Given the description of an element on the screen output the (x, y) to click on. 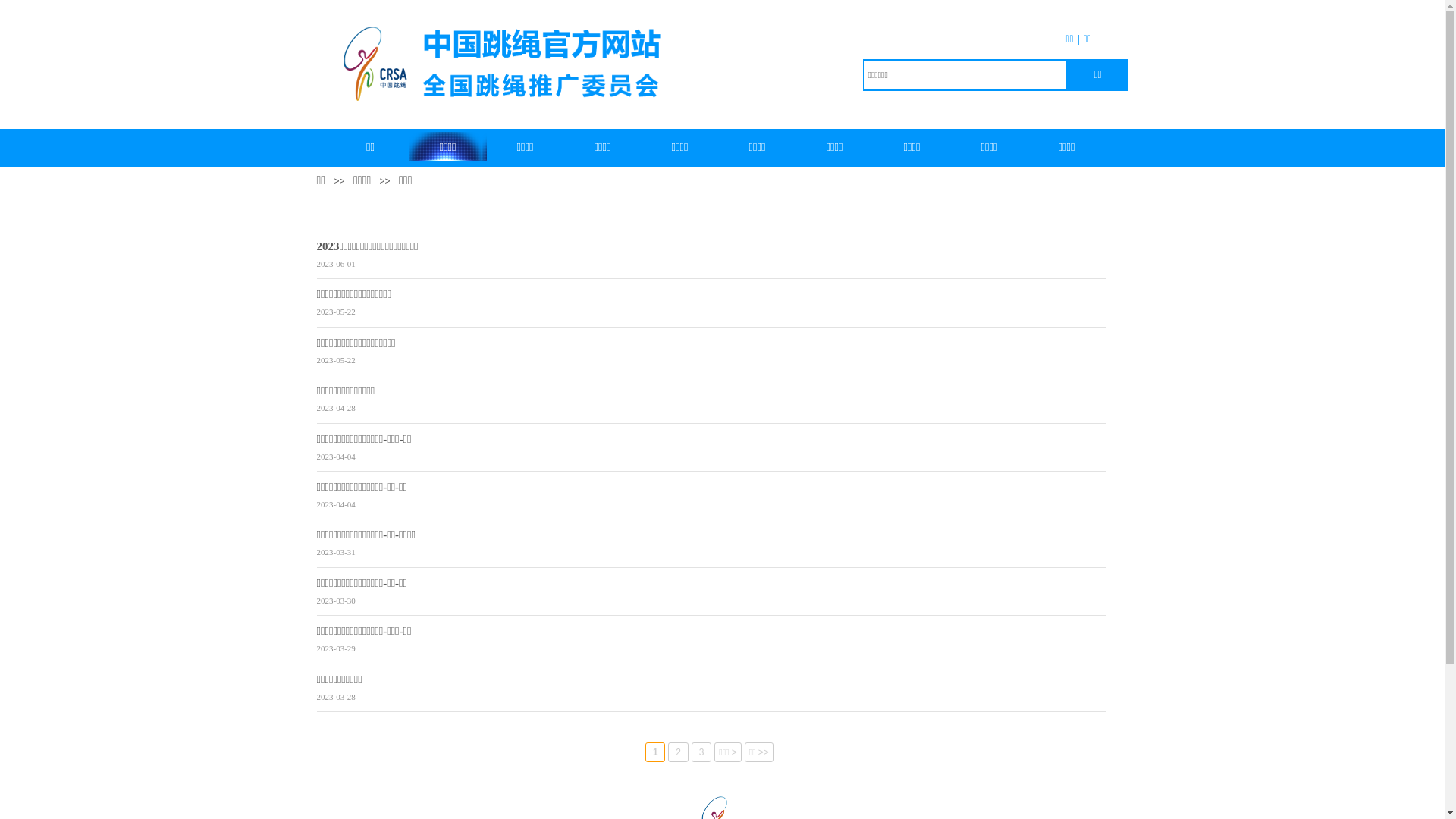
3 Element type: text (701, 752)
2 Element type: text (677, 752)
